Given the description of an element on the screen output the (x, y) to click on. 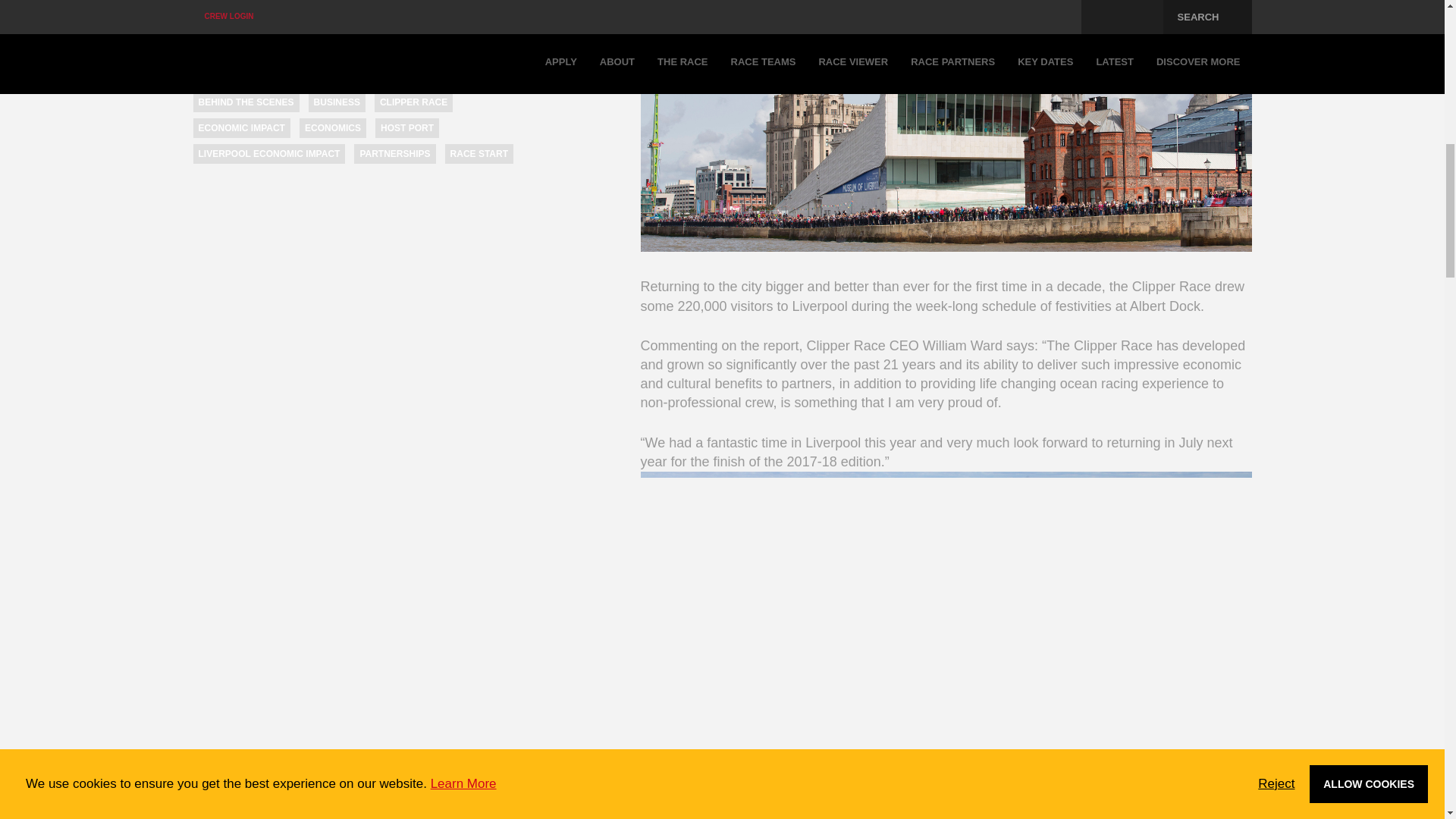
Share on Pinterest (292, 35)
Share on Facebook (201, 35)
Share on Twitter (233, 35)
Share on LinkedIn (263, 35)
Share on StumbleUpon (391, 35)
Share on Reddit (357, 35)
